Given the description of an element on the screen output the (x, y) to click on. 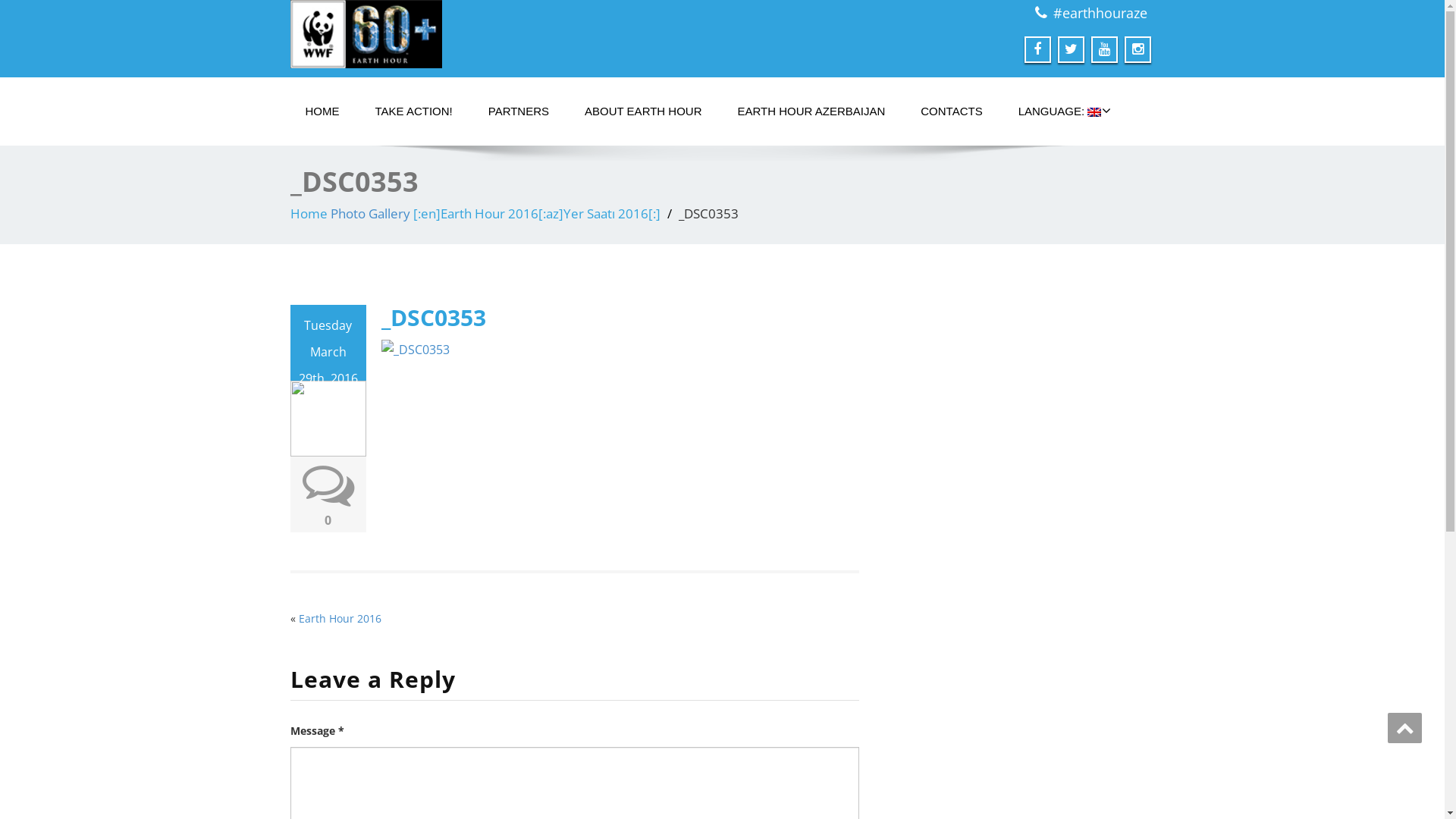
CONTACTS Element type: text (951, 111)
PARTNERS Element type: text (518, 111)
Go Top Element type: hover (1404, 727)
ABOUT EARTH HOUR Element type: text (642, 111)
Earth Hour Azerbaijan Element type: hover (499, 34)
Home Element type: text (307, 213)
Earth Hour 2016 Element type: text (339, 618)
LANGUAGE:  Element type: text (1060, 111)
TAKE ACTION! Element type: text (413, 111)
Photo Gallery Element type: text (370, 213)
0 Element type: text (327, 519)
#earthhouraze Element type: text (1099, 12)
EARTH HOUR AZERBAIJAN Element type: text (811, 111)
HOME Element type: text (321, 111)
